Given the description of an element on the screen output the (x, y) to click on. 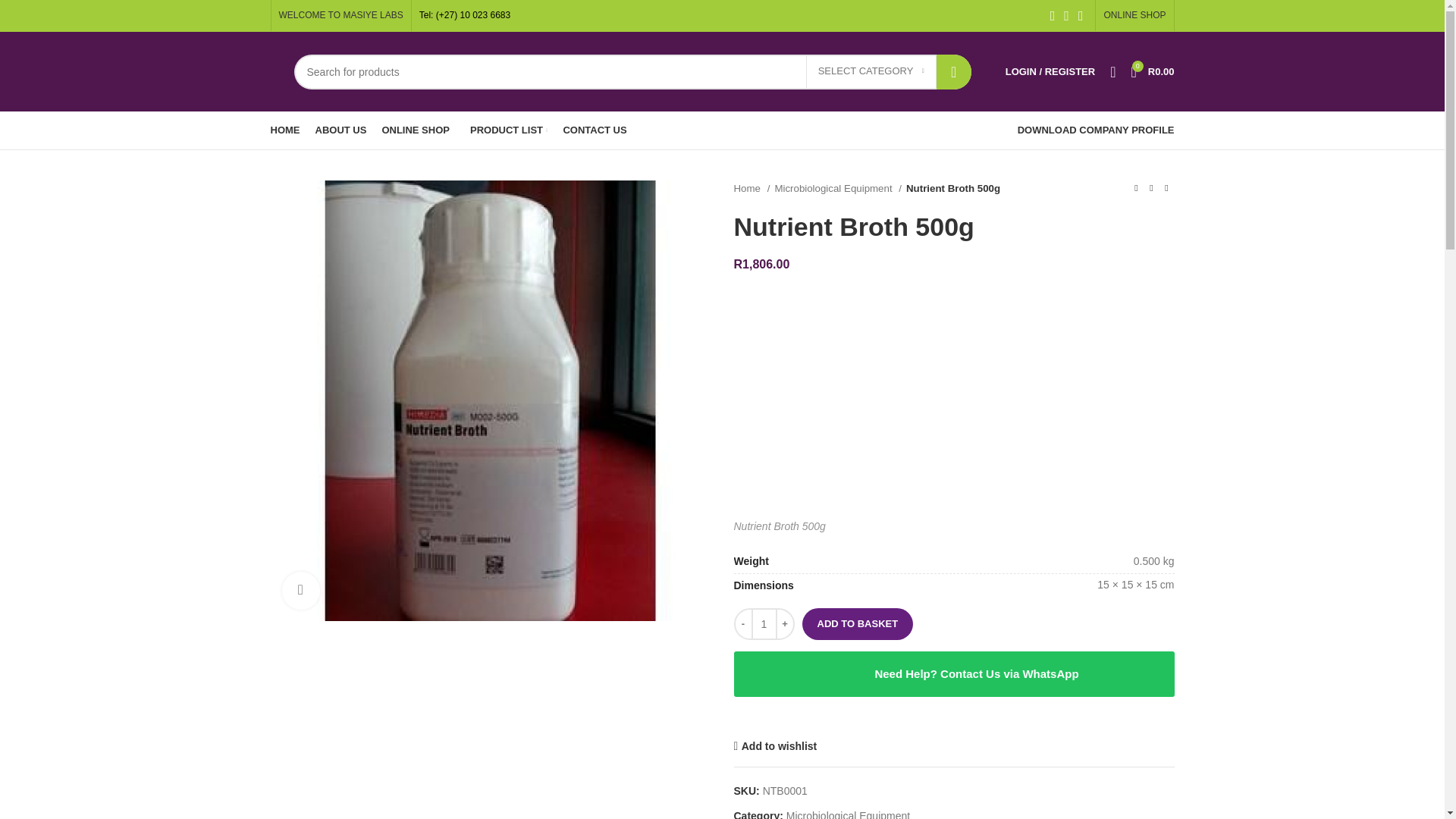
My account (1049, 71)
SELECT CATEGORY (871, 71)
WELCOME TO MASIYE LABS (341, 15)
Shopping cart (1151, 71)
Search for products (632, 71)
ONLINE SHOP (1134, 15)
SELECT CATEGORY (871, 71)
